Given the description of an element on the screen output the (x, y) to click on. 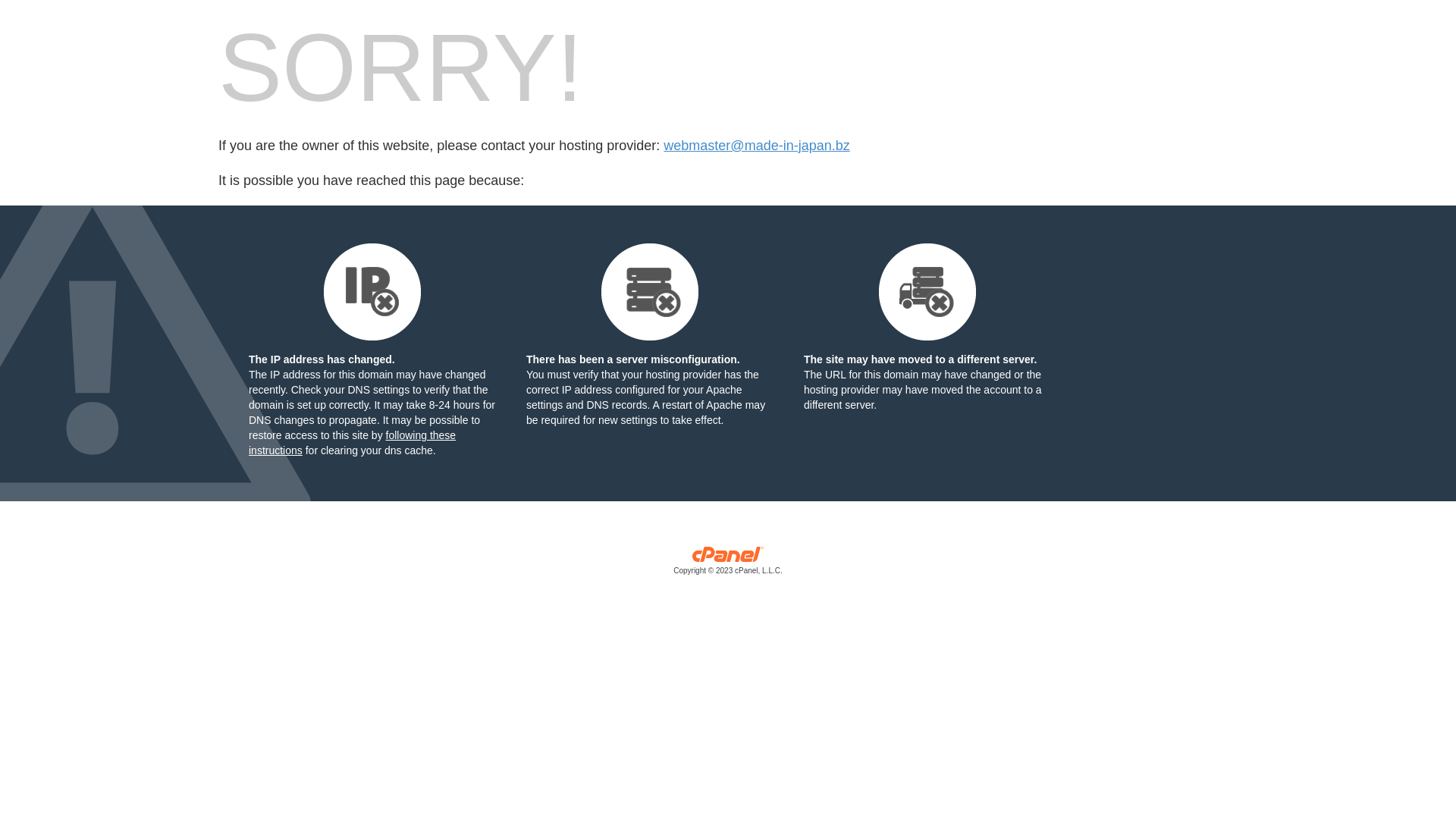
following these instructions Element type: text (351, 442)
webmaster@made-in-japan.bz Element type: text (756, 145)
